Given the description of an element on the screen output the (x, y) to click on. 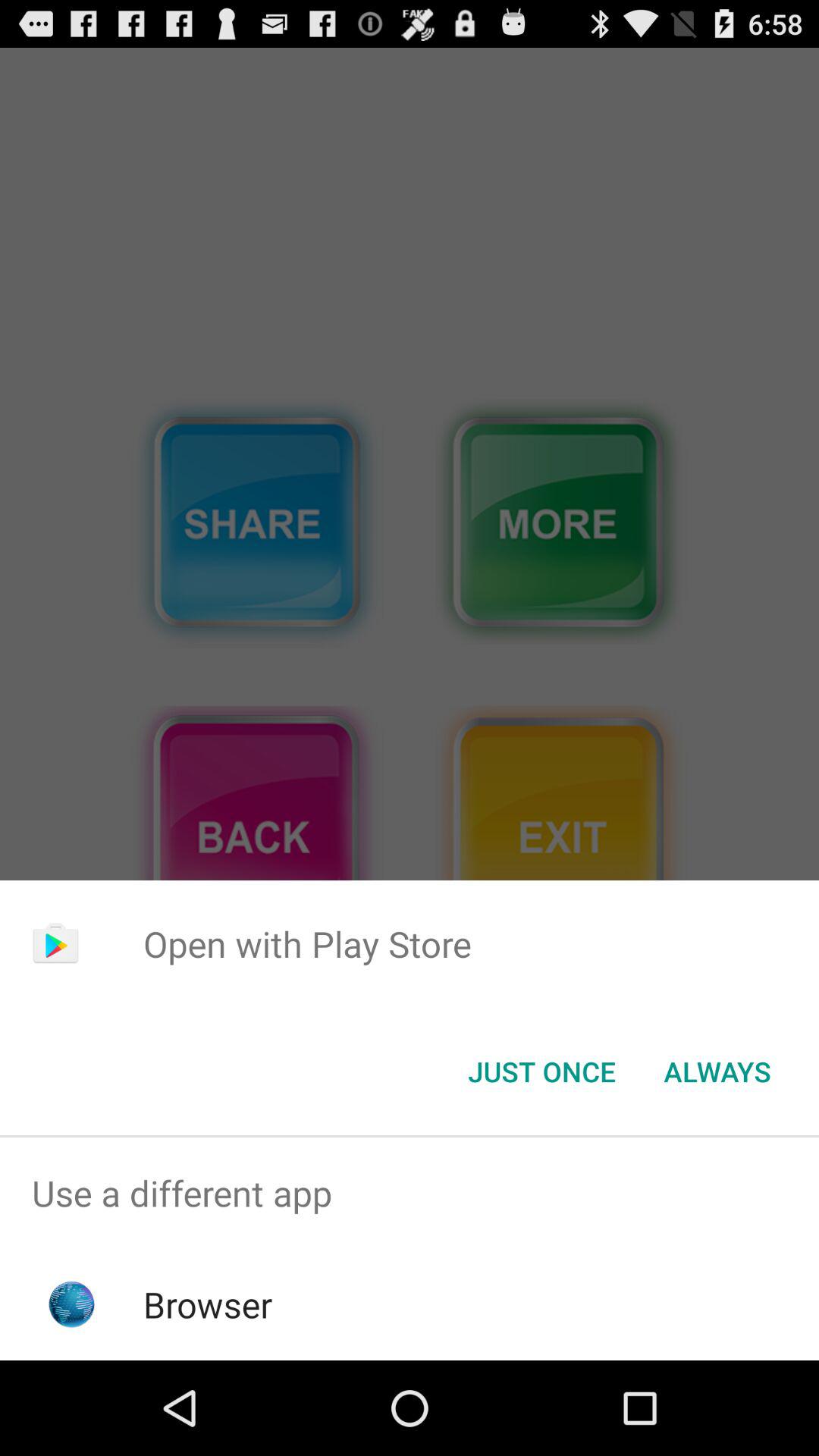
jump to the just once icon (541, 1071)
